Given the description of an element on the screen output the (x, y) to click on. 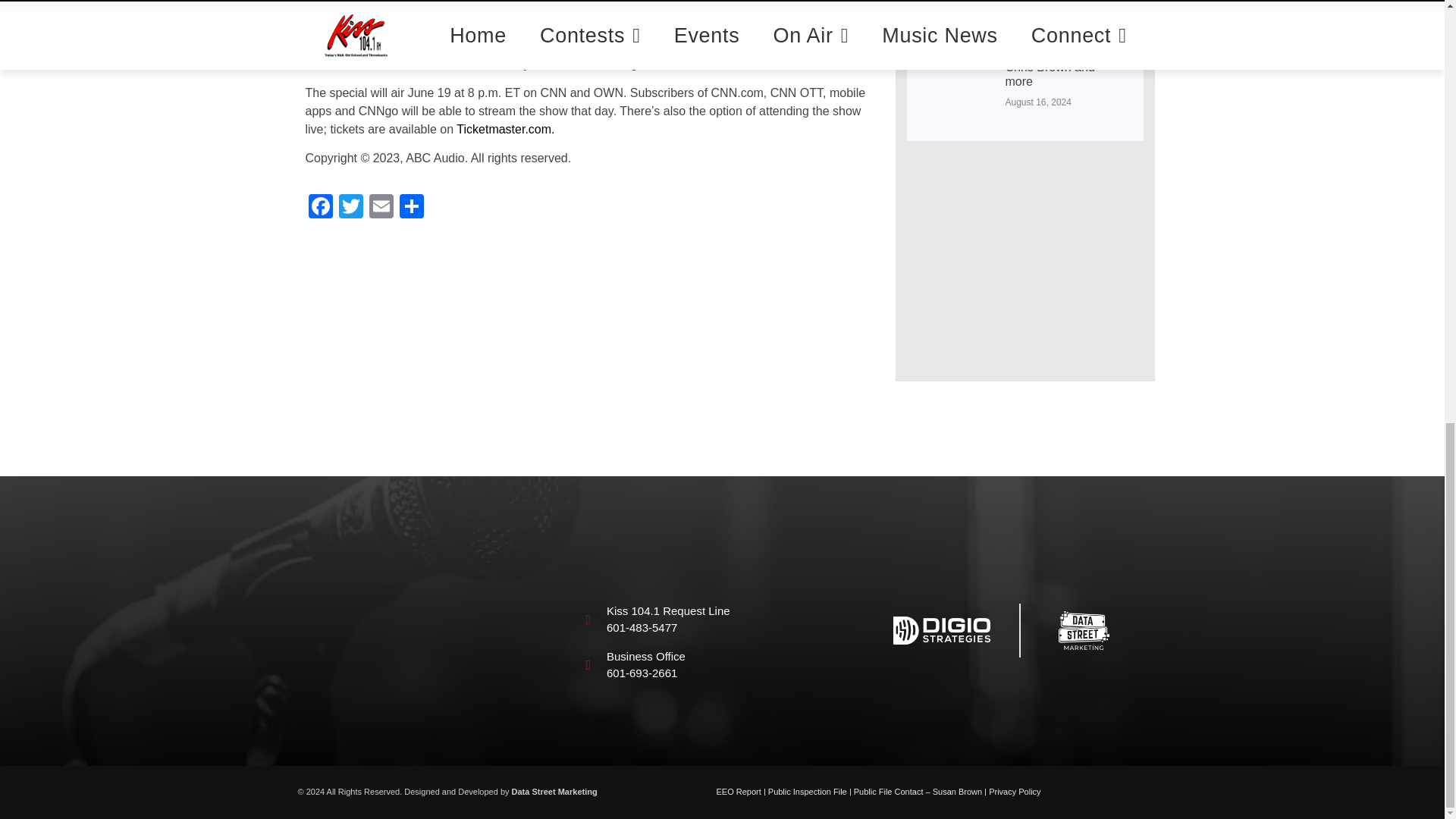
Facebook (319, 207)
Email (380, 207)
Twitter (349, 207)
